Given the description of an element on the screen output the (x, y) to click on. 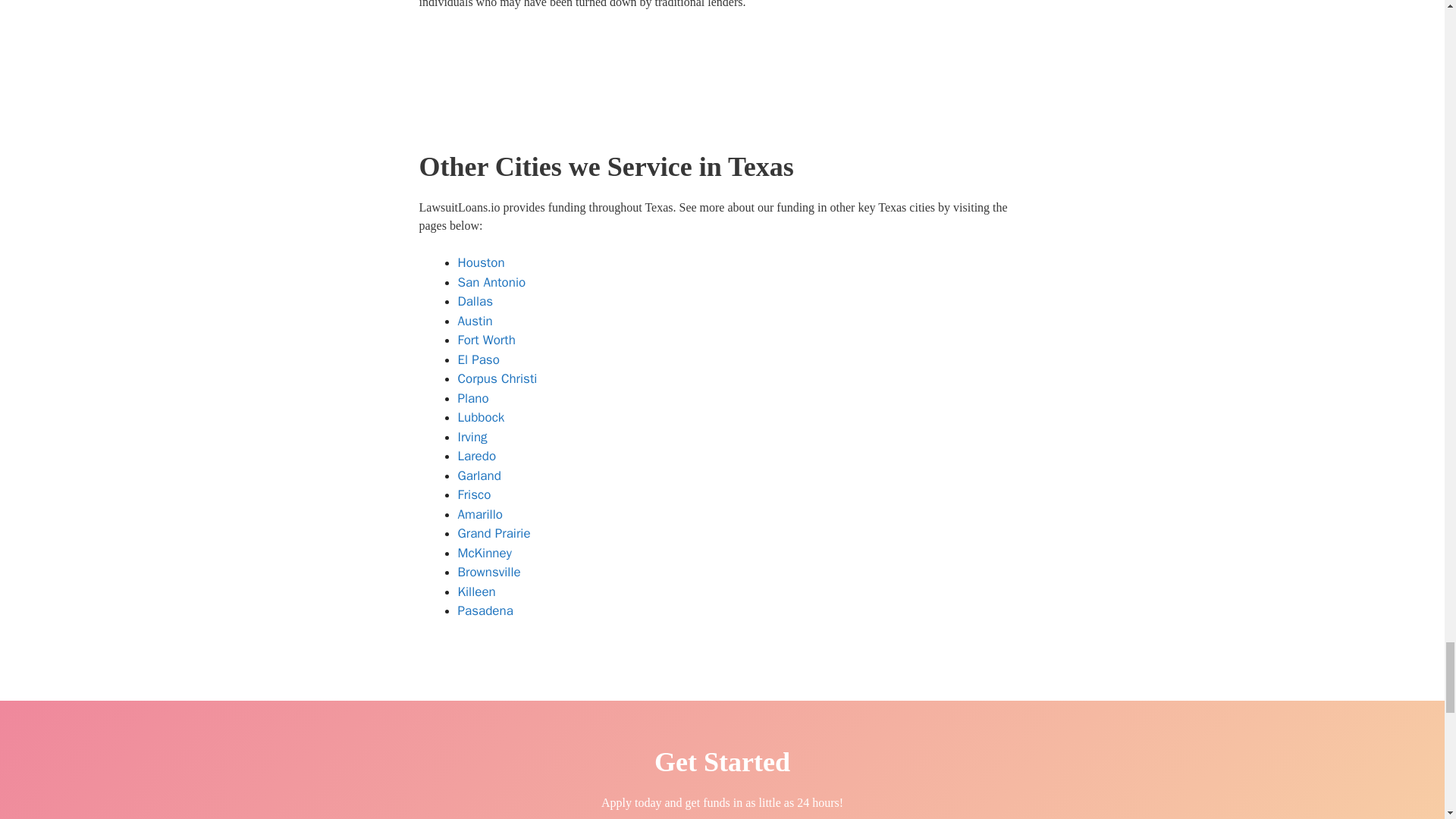
Brownsville (489, 571)
Frisco (475, 494)
Corpus Christi (497, 378)
Irving (472, 437)
Fort Worth (486, 340)
Plano (473, 398)
Austin (475, 320)
Lubbock (481, 417)
Houston (481, 262)
Laredo (477, 455)
